Given the description of an element on the screen output the (x, y) to click on. 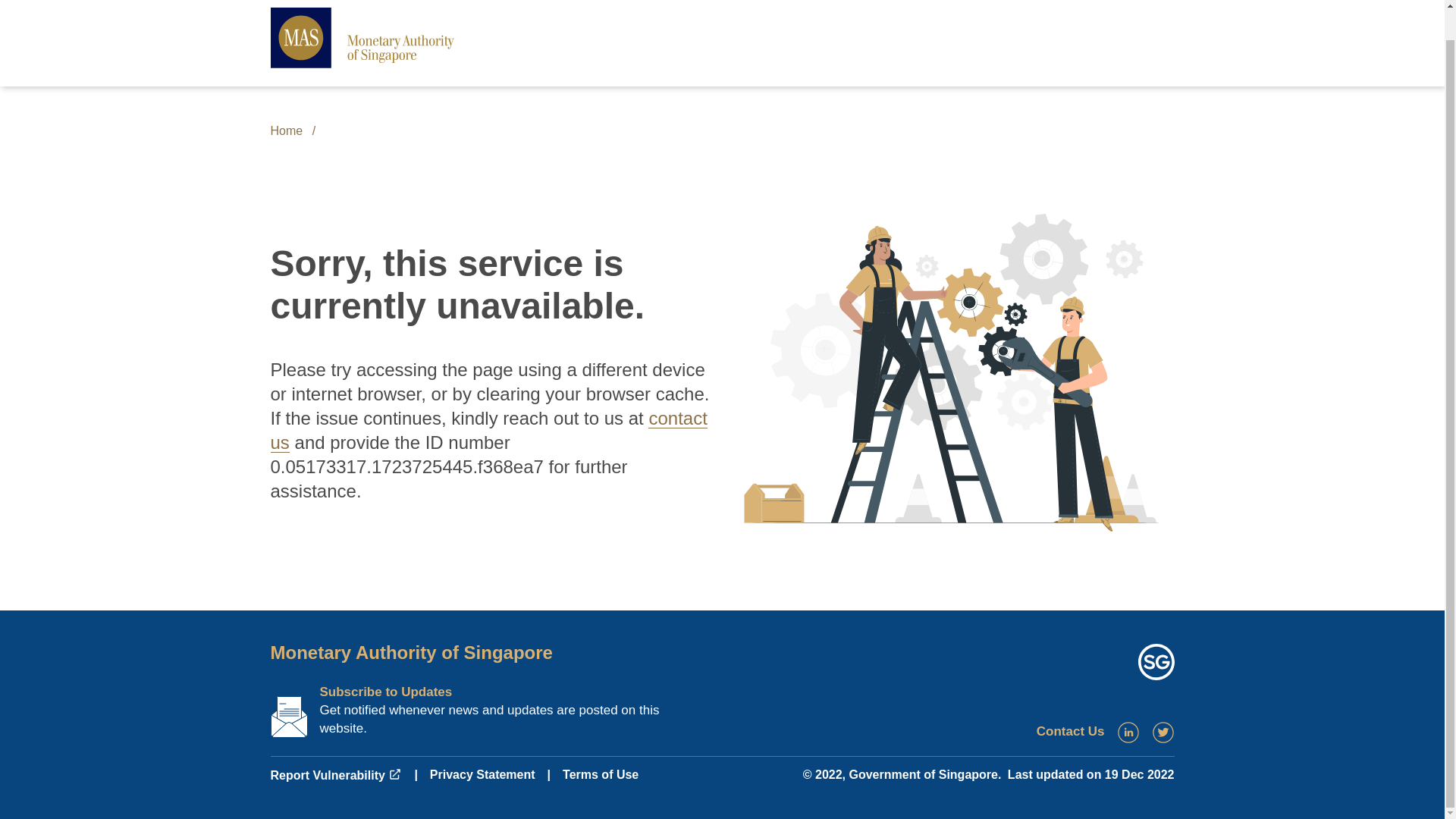
Terms of Use (600, 774)
Home (285, 130)
Monetary Authority of Singapore (410, 652)
Report Vulnerability (335, 775)
Privacy Statement (482, 774)
contact us (487, 429)
Contact Us (1070, 730)
